Given the description of an element on the screen output the (x, y) to click on. 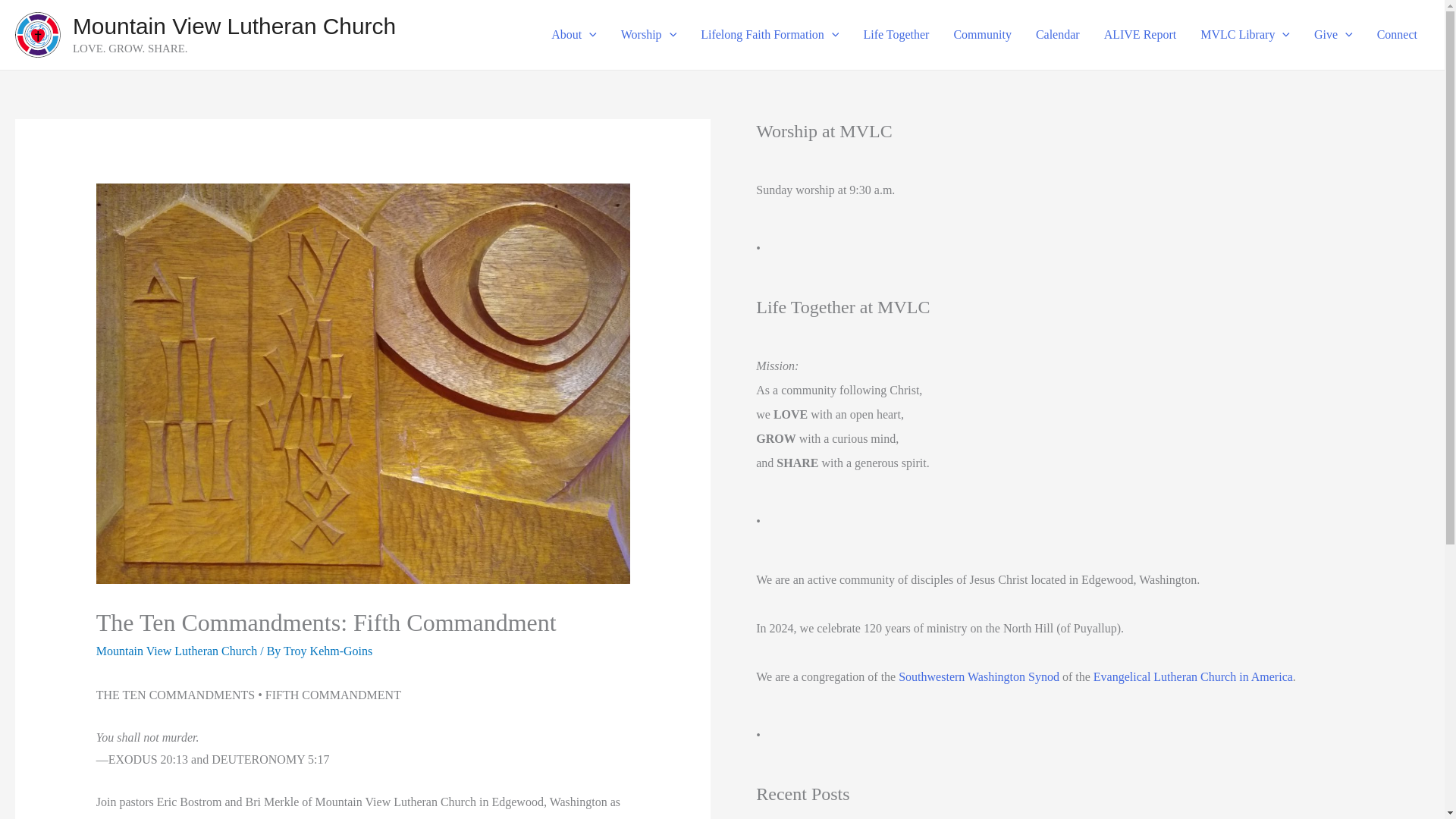
Connect (1397, 34)
Give (1333, 34)
MVLC Library (1244, 34)
Mountain View Lutheran Church (234, 25)
Lifelong Faith Formation (769, 34)
Worship (648, 34)
Calendar (1057, 34)
View all posts by Troy Kehm-Goins (327, 650)
ALIVE Report (1140, 34)
Community (981, 34)
Life Together (895, 34)
About (573, 34)
